Given the description of an element on the screen output the (x, y) to click on. 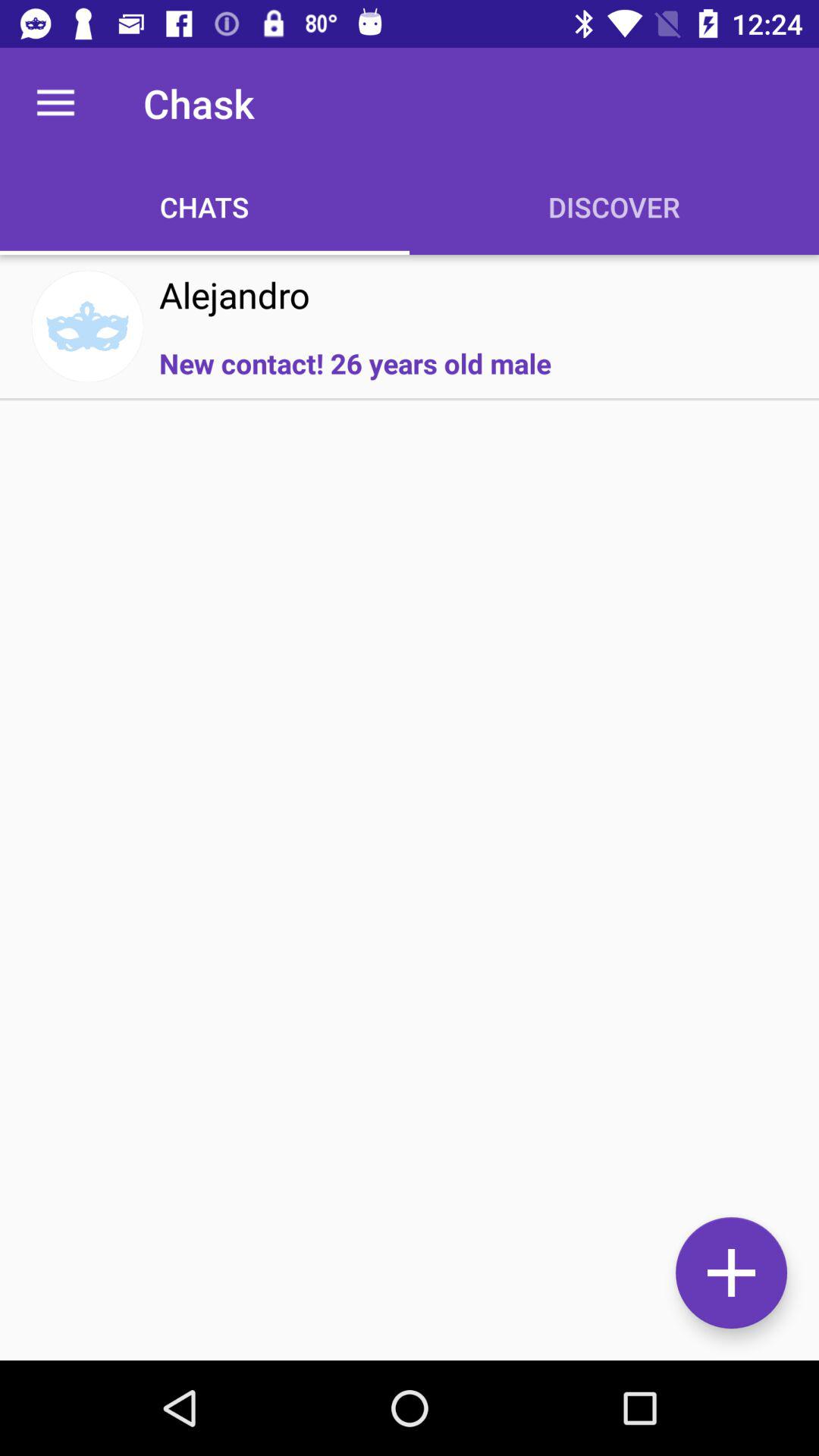
open the item below discover (731, 1272)
